Given the description of an element on the screen output the (x, y) to click on. 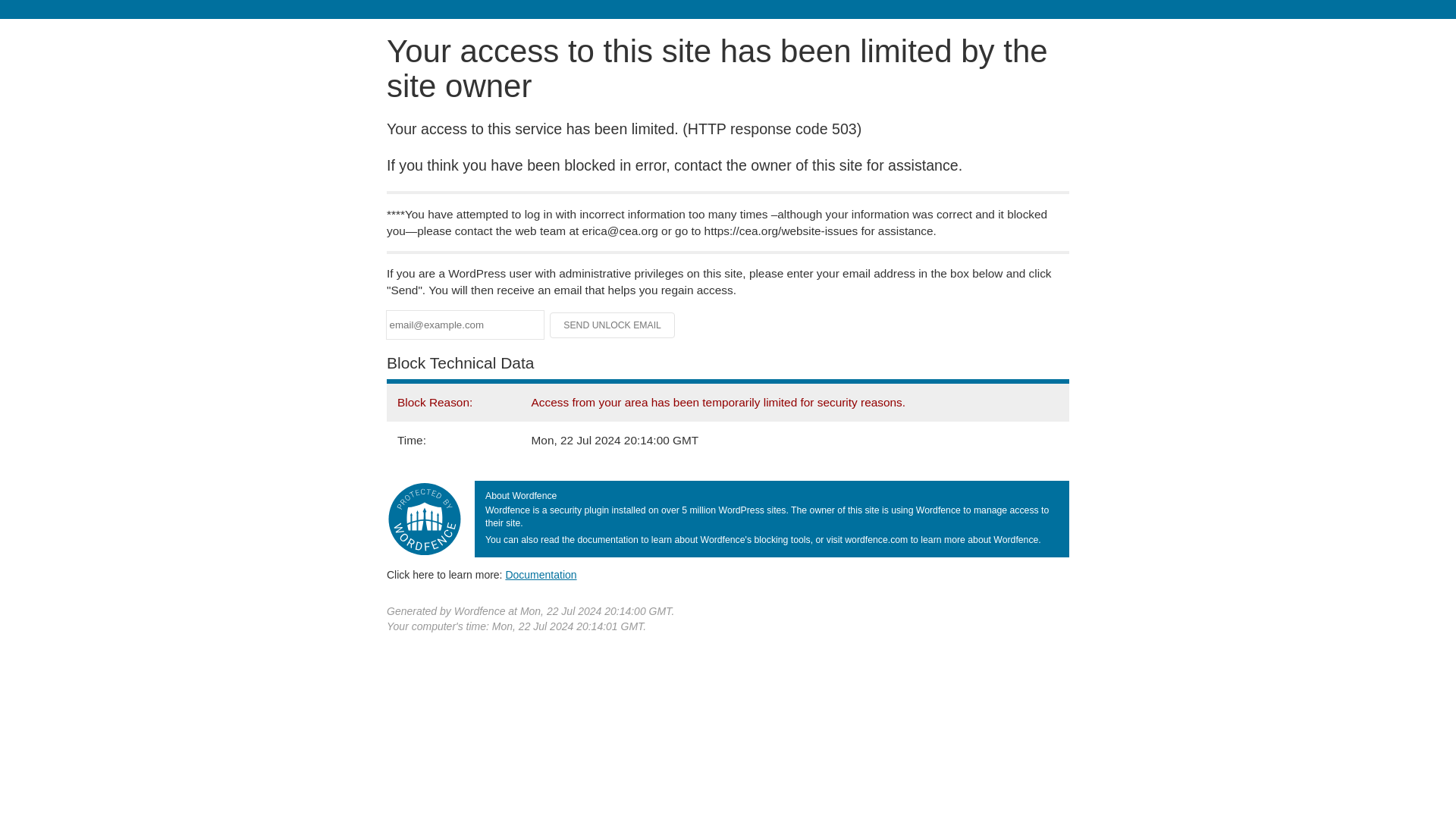
Send Unlock Email (612, 325)
Send Unlock Email (612, 325)
Documentation (540, 574)
